Given the description of an element on the screen output the (x, y) to click on. 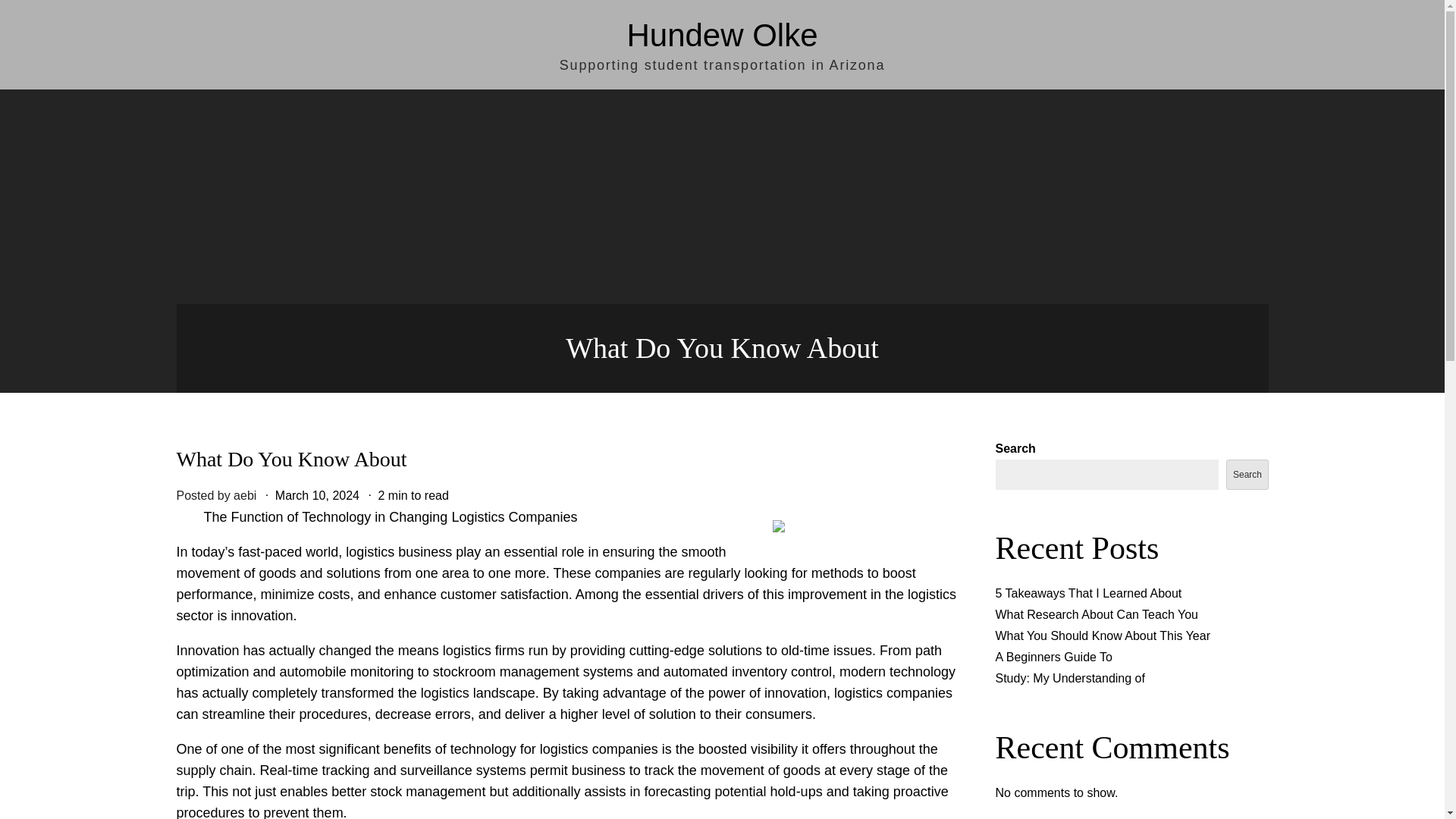
A Beginners Guide To (1053, 656)
What Research About Can Teach You (1095, 614)
aebi (244, 495)
5 Takeaways That I Learned About (1087, 593)
Hundew Olke (721, 35)
March 10, 2024 (317, 495)
Study: My Understanding of (1069, 677)
What You Should Know About This Year (1101, 635)
Search (1246, 474)
